Given the description of an element on the screen output the (x, y) to click on. 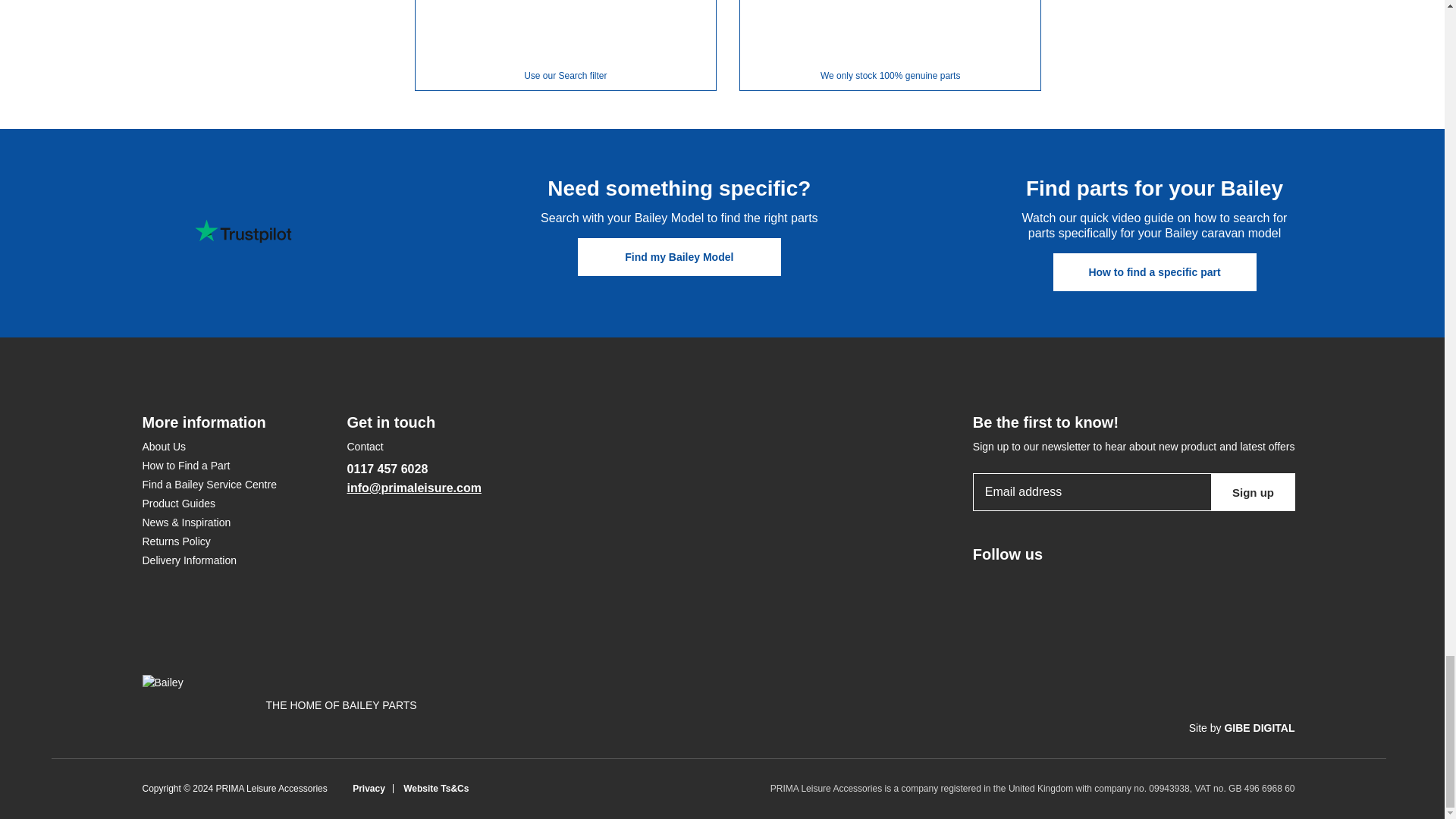
Number (1218, 787)
Number (1140, 787)
Customer reviews powered by Trustpilot (242, 231)
